Given the description of an element on the screen output the (x, y) to click on. 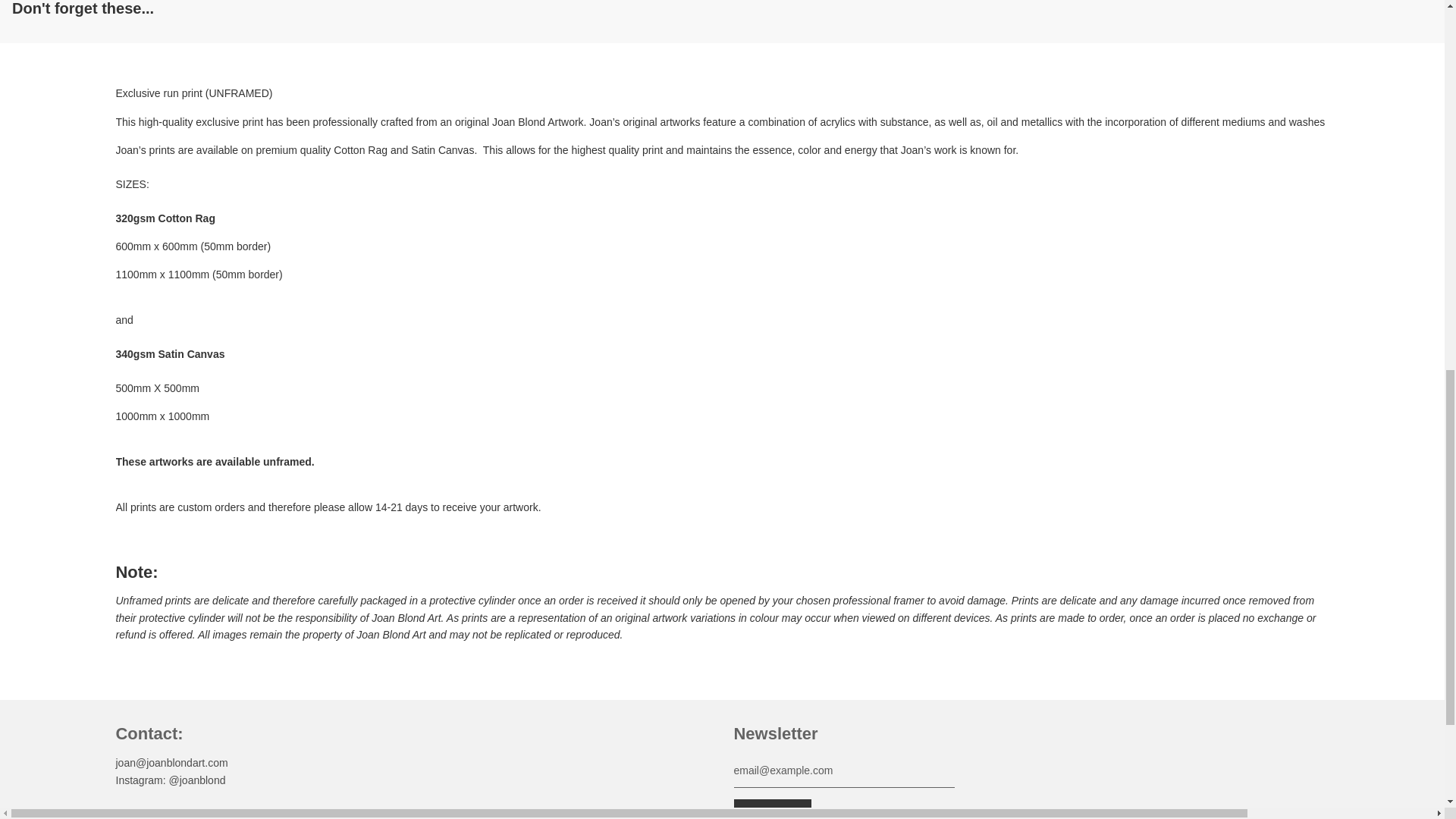
Subscribe (771, 809)
